Given the description of an element on the screen output the (x, y) to click on. 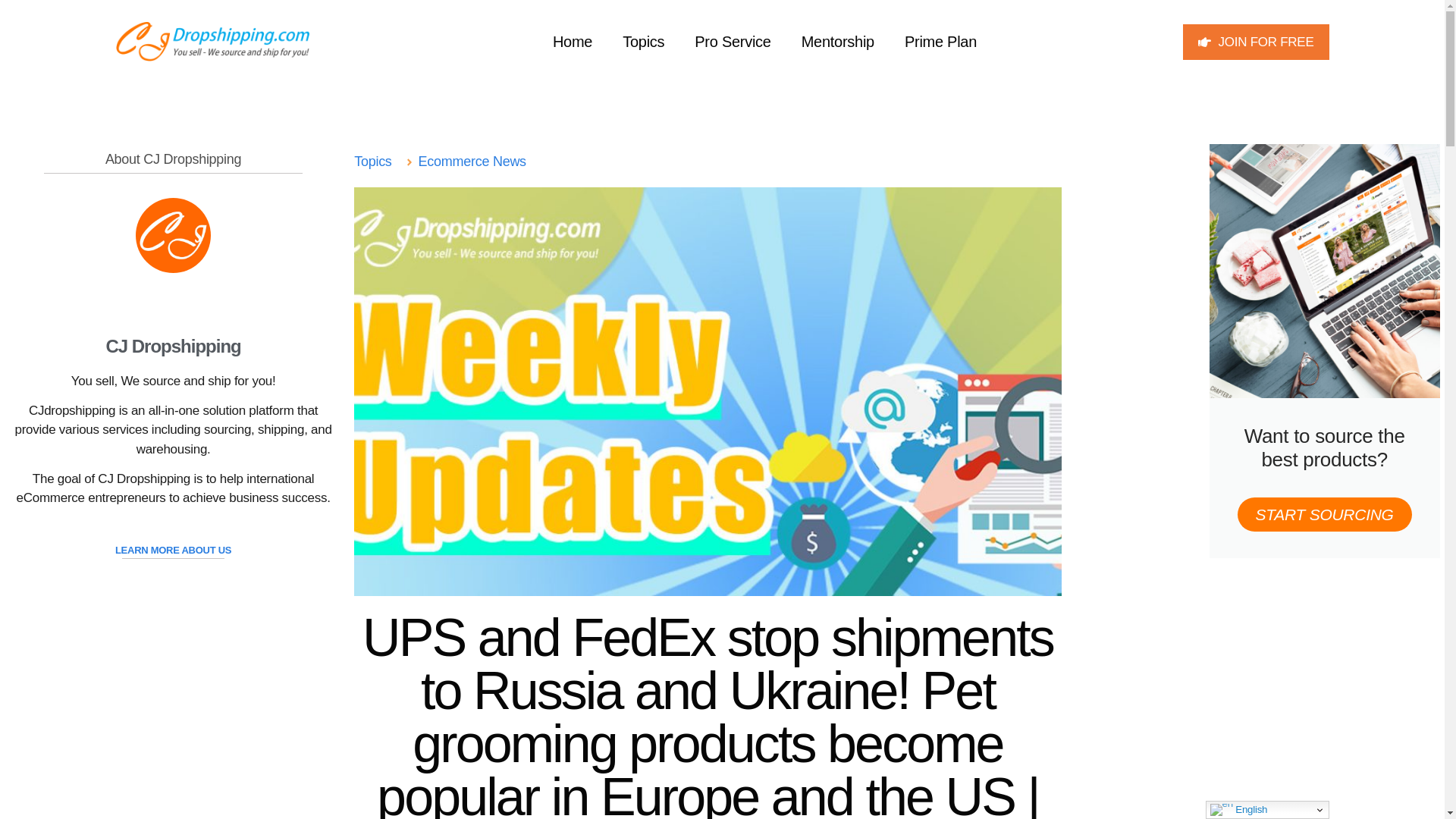
Topics (643, 41)
Pro Service (732, 41)
Mentorship (837, 41)
Prime Plan (940, 41)
Home (572, 41)
